Given the description of an element on the screen output the (x, y) to click on. 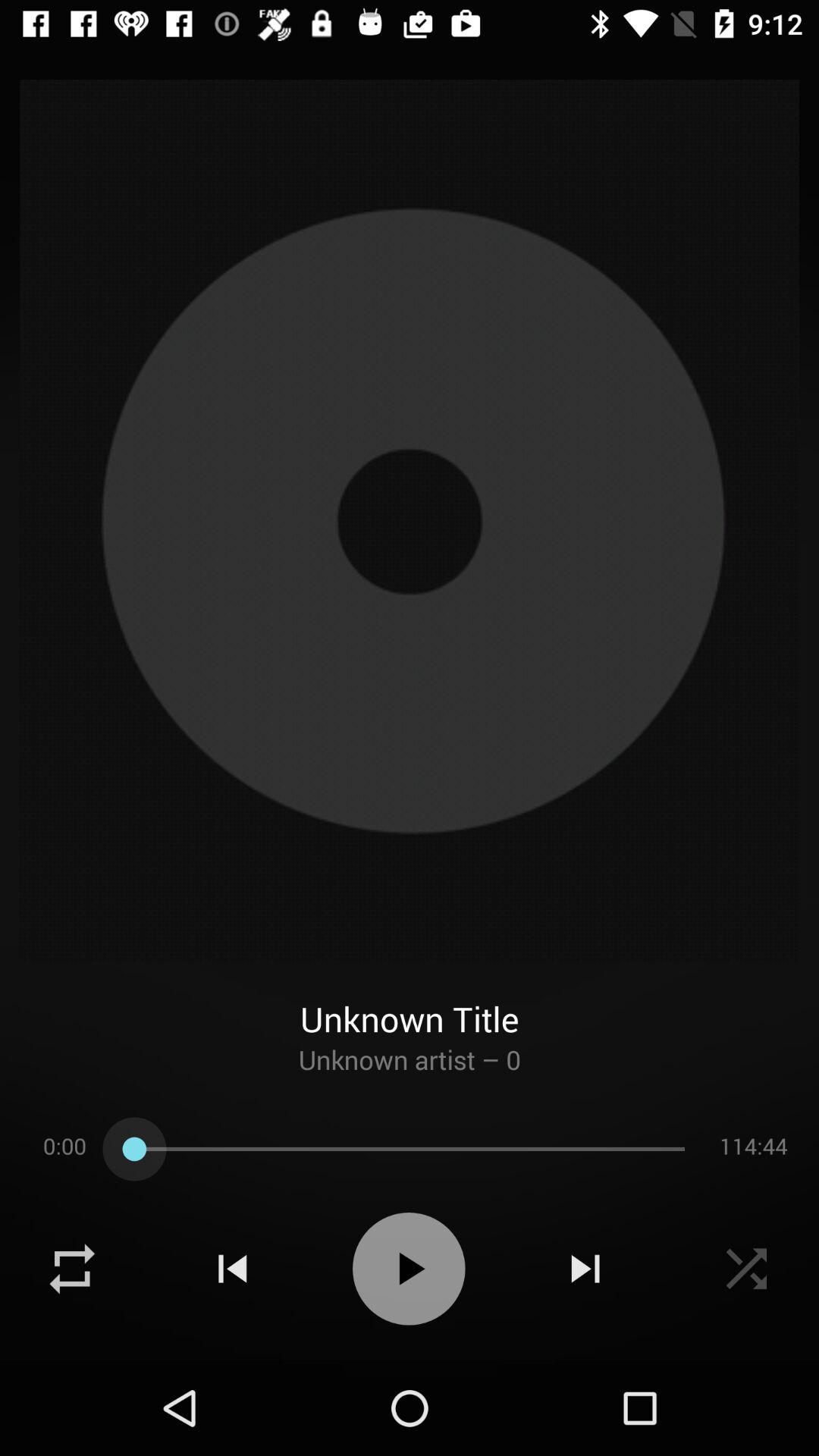
go to previous song (232, 1268)
